Given the description of an element on the screen output the (x, y) to click on. 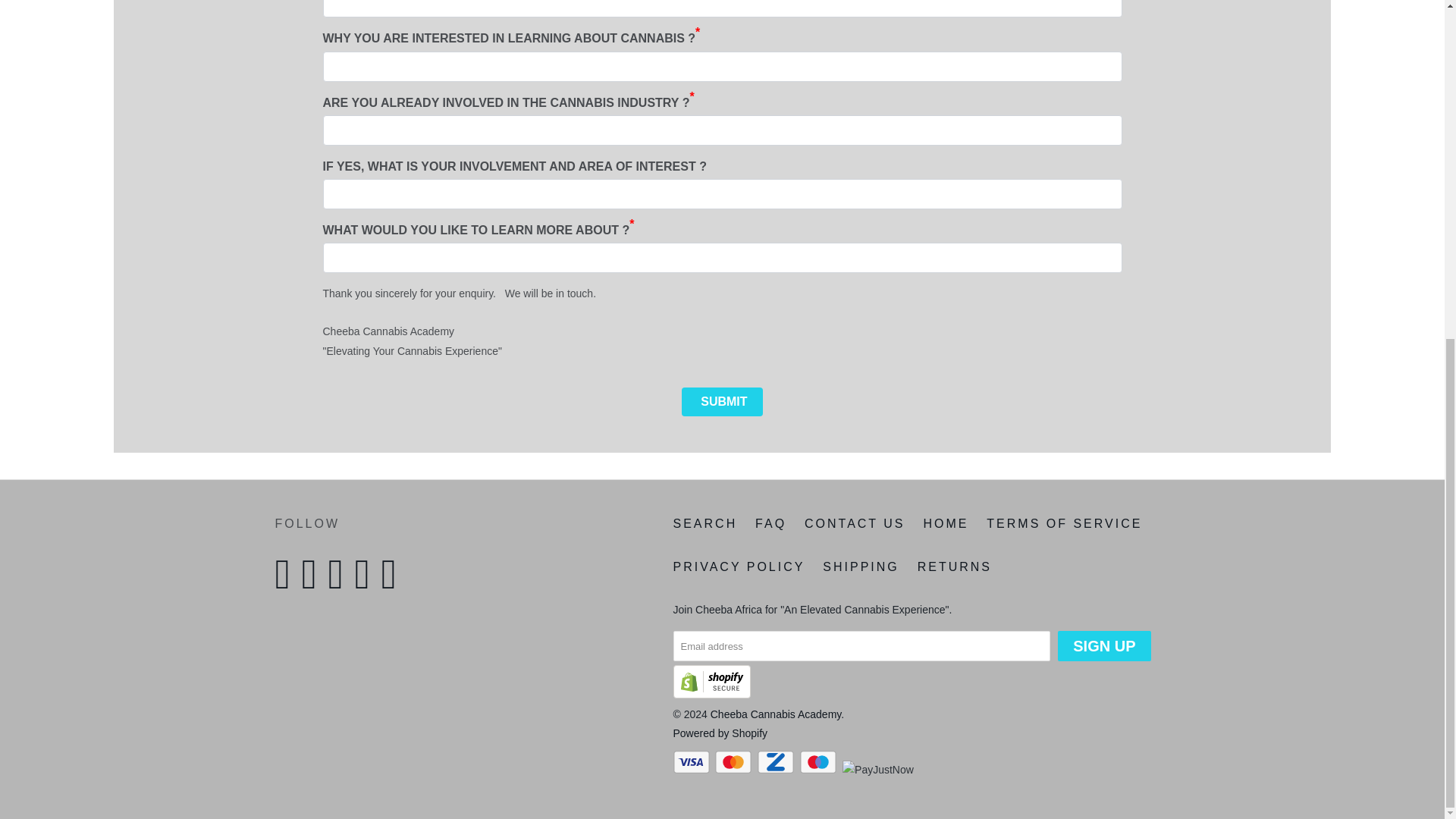
Visa (692, 762)
Zapper (776, 762)
Cheeba Cannabis Academy on Facebook (312, 574)
This online store is secured by Shopify (711, 694)
Sign Up (1104, 645)
Cheeba Cannabis Academy on LinkedIn (365, 574)
Email Cheeba Cannabis Academy (392, 574)
Cheeba Cannabis Academy on Twitter (286, 574)
Cheeba Cannabis Academy on Instagram (338, 574)
Maestro (819, 762)
Mastercard (734, 762)
